Given the description of an element on the screen output the (x, y) to click on. 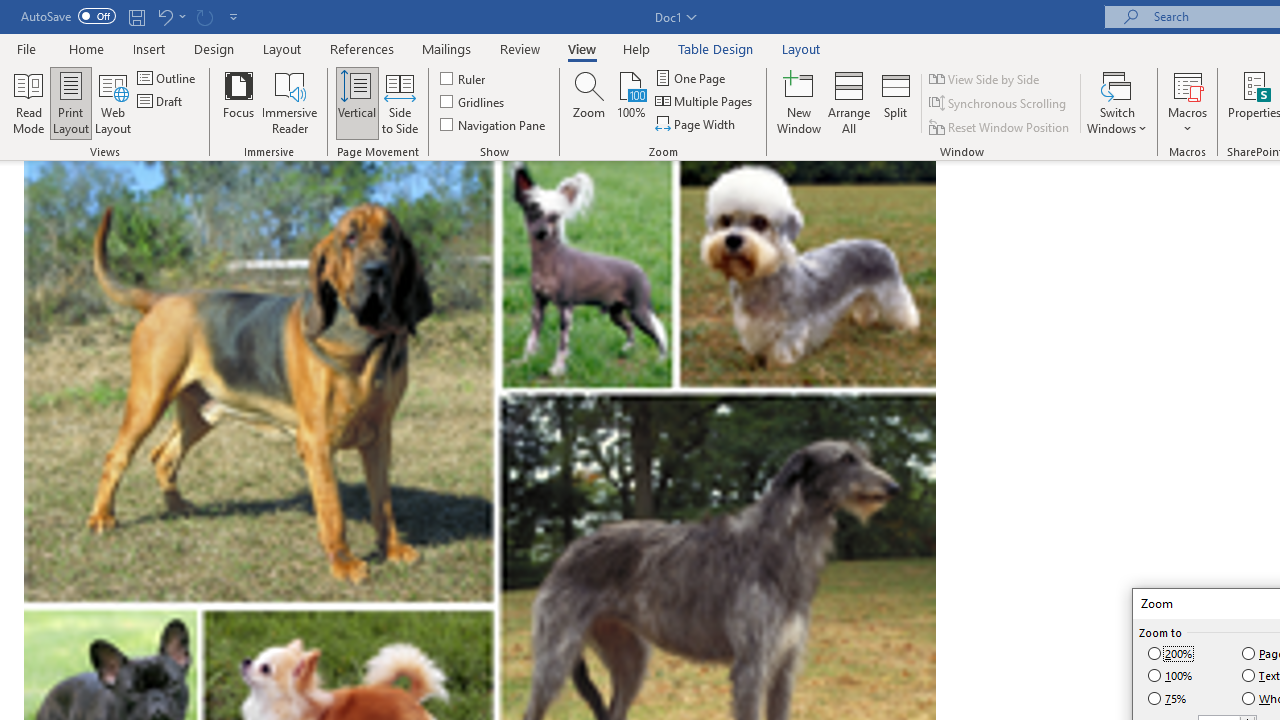
Draft (161, 101)
Can't Repeat (204, 15)
New Window (799, 102)
One Page (691, 78)
Switch Windows (1117, 102)
Synchronous Scrolling (998, 103)
